Given the description of an element on the screen output the (x, y) to click on. 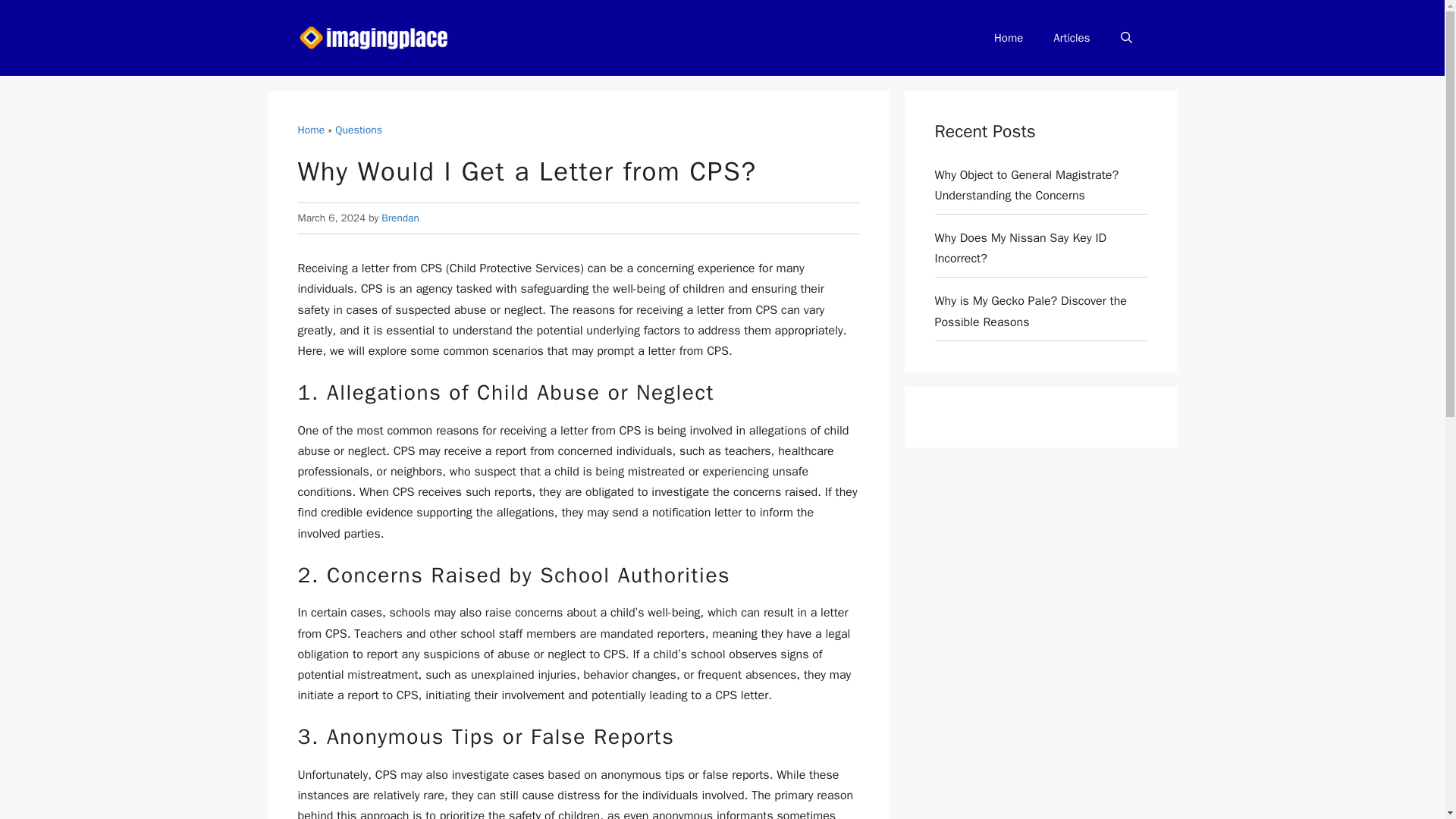
Brendan (400, 217)
Home (310, 129)
Why Does My Nissan Say Key ID Incorrect? (1020, 248)
View all posts by Brendan (400, 217)
Questions (357, 129)
Why Object to General Magistrate? Understanding the Concerns (1026, 185)
Articles (1071, 37)
Home (1008, 37)
Why is My Gecko Pale? Discover the Possible Reasons (1029, 311)
